Given the description of an element on the screen output the (x, y) to click on. 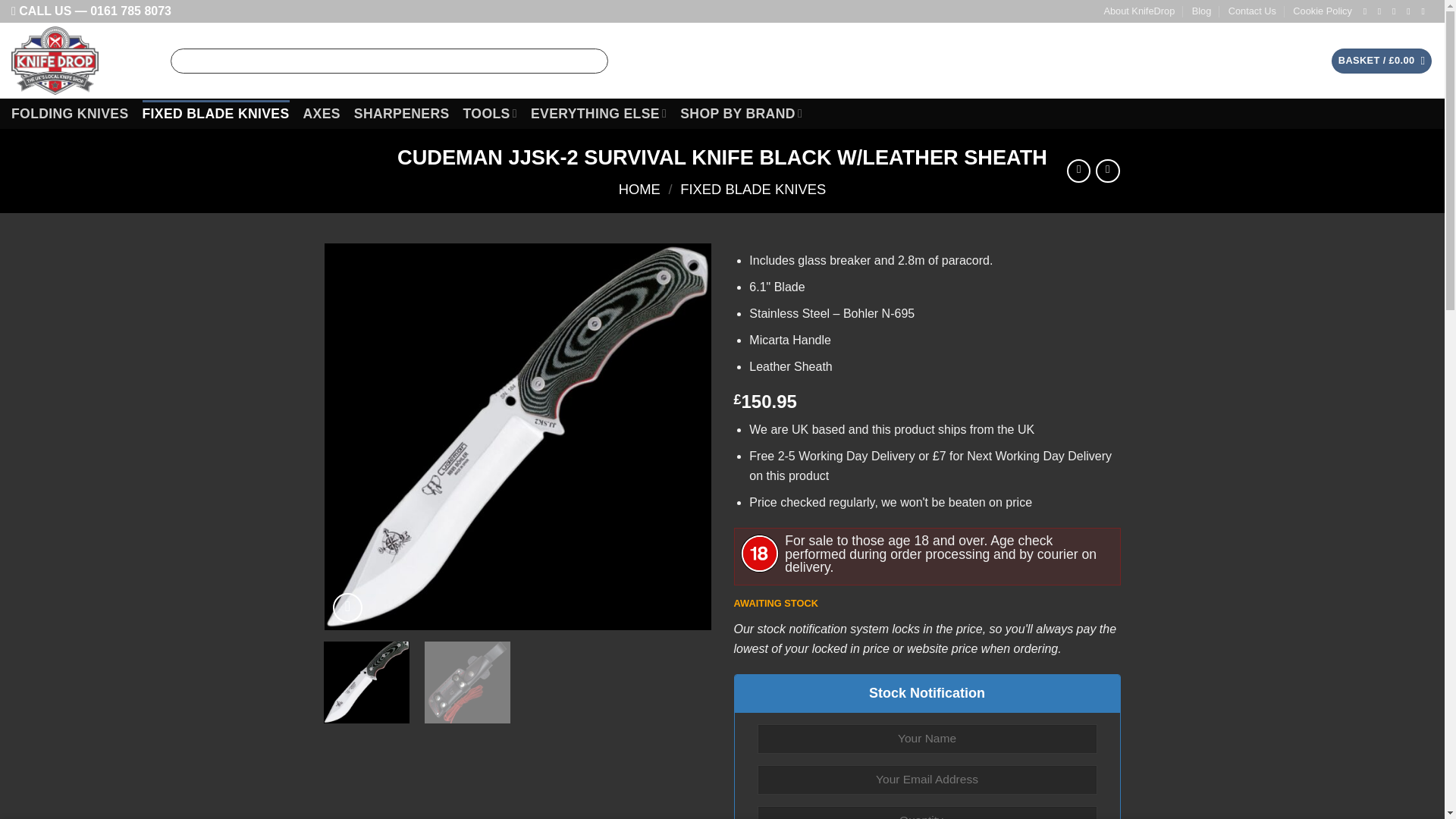
LOGIN (1287, 60)
Search (593, 61)
Contact Us (1252, 11)
About KnifeDrop (1138, 11)
Basket (1382, 60)
AXES (321, 113)
SHARPENERS (401, 113)
Login (1287, 60)
TOOLS (489, 112)
FOLDING KNIVES (69, 113)
